Given the description of an element on the screen output the (x, y) to click on. 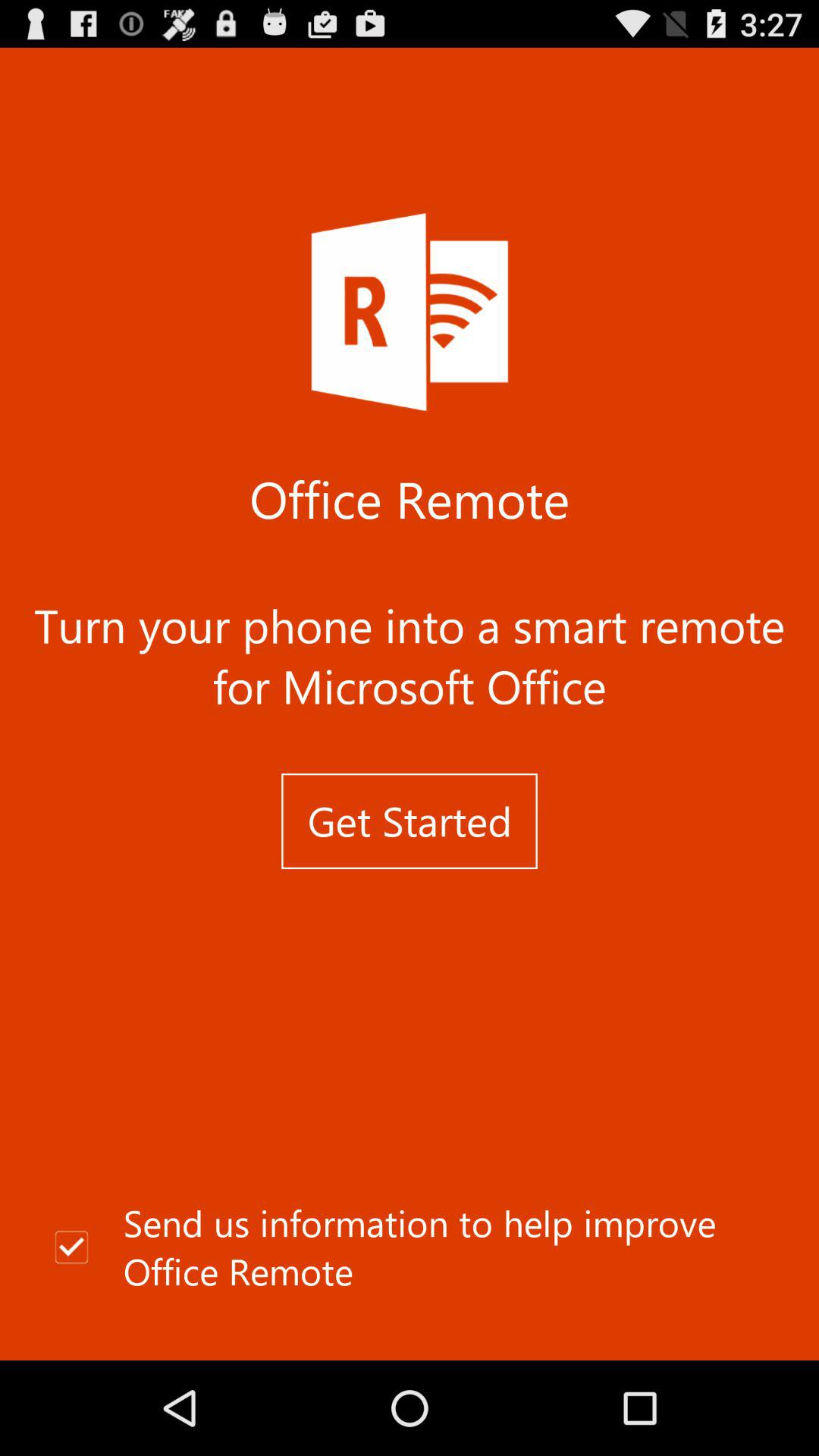
turn on button below get started button (409, 1247)
